Given the description of an element on the screen output the (x, y) to click on. 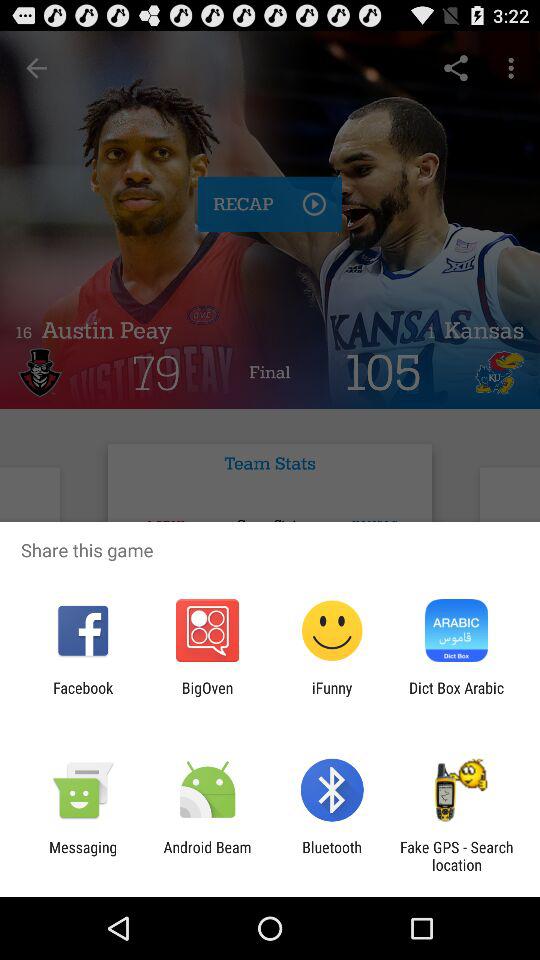
jump to the bigoven (207, 696)
